Given the description of an element on the screen output the (x, y) to click on. 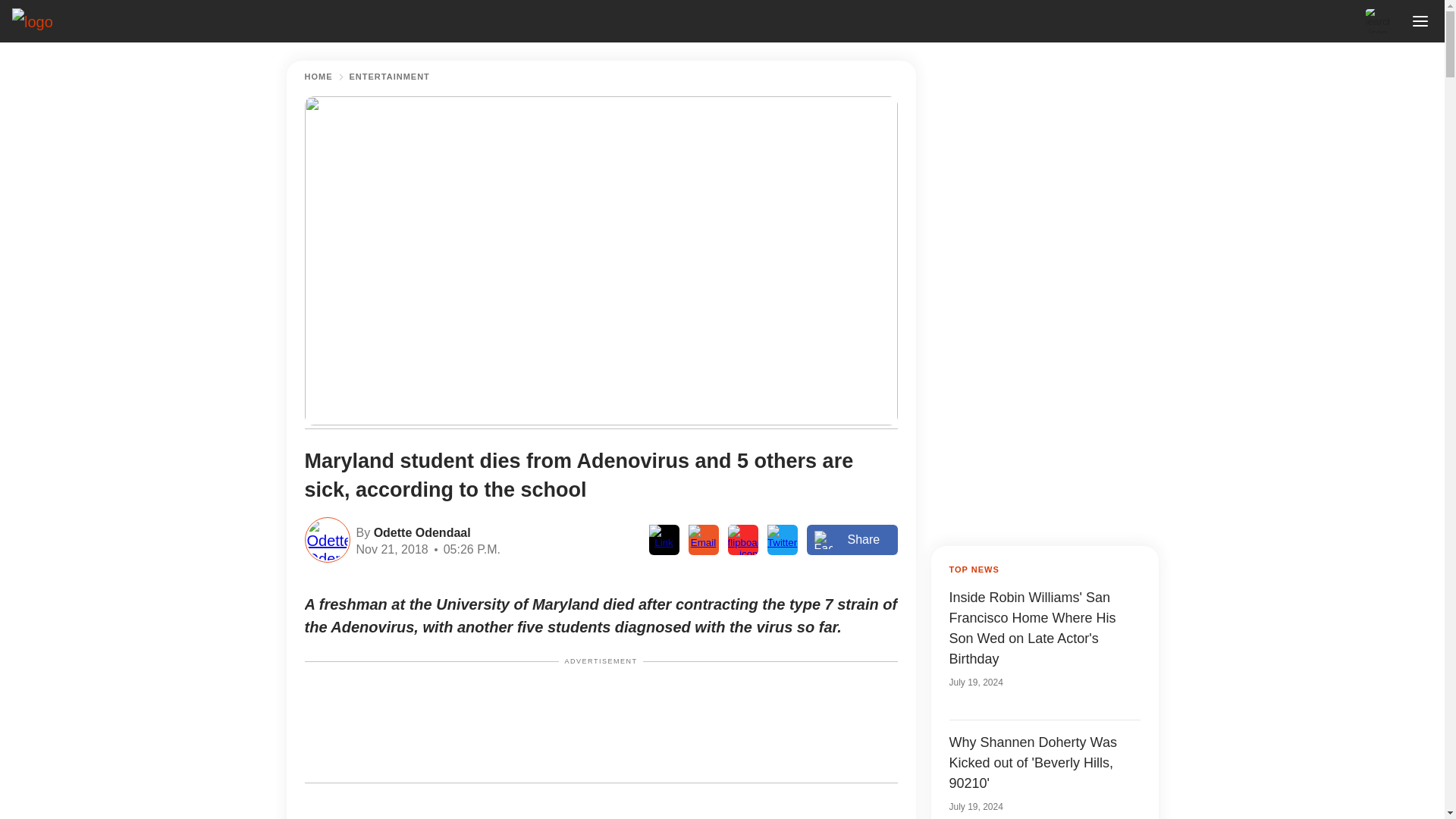
Odette Odendaal (419, 531)
HOME (318, 76)
ENTERTAINMENT (389, 76)
